Given the description of an element on the screen output the (x, y) to click on. 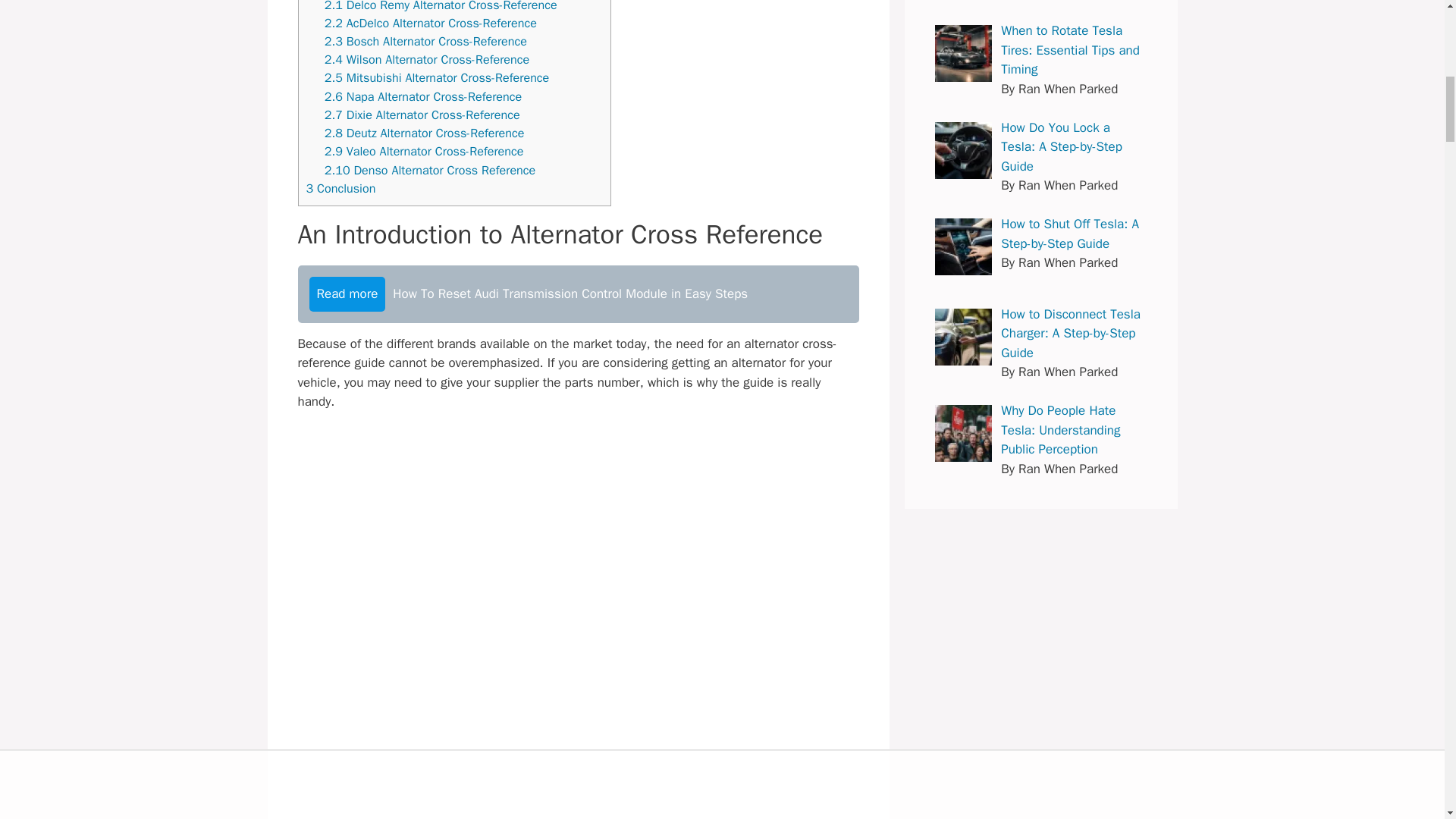
2.2 AcDelco Alternator Cross-Reference (430, 23)
How Do You Lock a Tesla: A Step-by-Step Guide (962, 150)
2.7 Dixie Alternator Cross-Reference (421, 114)
2.6 Napa Alternator Cross-Reference (422, 96)
2.1 Delco Remy Alternator Cross-Reference (440, 6)
2.3 Bosch Alternator Cross-Reference (425, 41)
2.4 Wilson Alternator Cross-Reference (426, 59)
How to Shut Off Tesla: A Step-by-Step Guide (962, 246)
When to Rotate Tesla Tires: Essential Tips and Timing (962, 53)
YouTube video player (577, 549)
2.5 Mitsubishi Alternator Cross-Reference (437, 77)
